Given the description of an element on the screen output the (x, y) to click on. 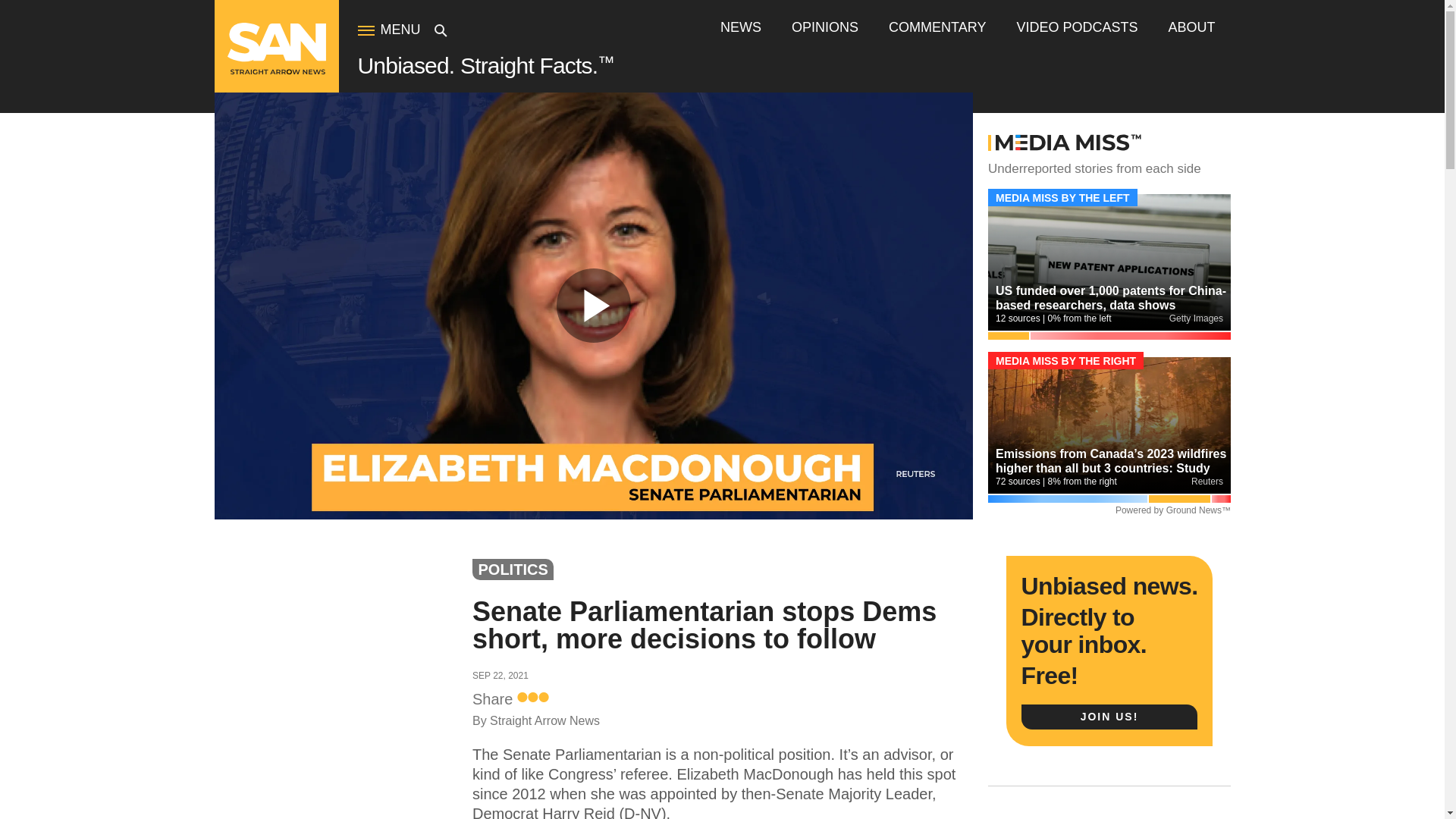
Home (276, 70)
OPINIONS (825, 27)
NEWS (740, 27)
ABOUT (1190, 27)
Play Video (593, 305)
COMMENTARY (936, 27)
VIDEO PODCASTS (1076, 27)
